Given the description of an element on the screen output the (x, y) to click on. 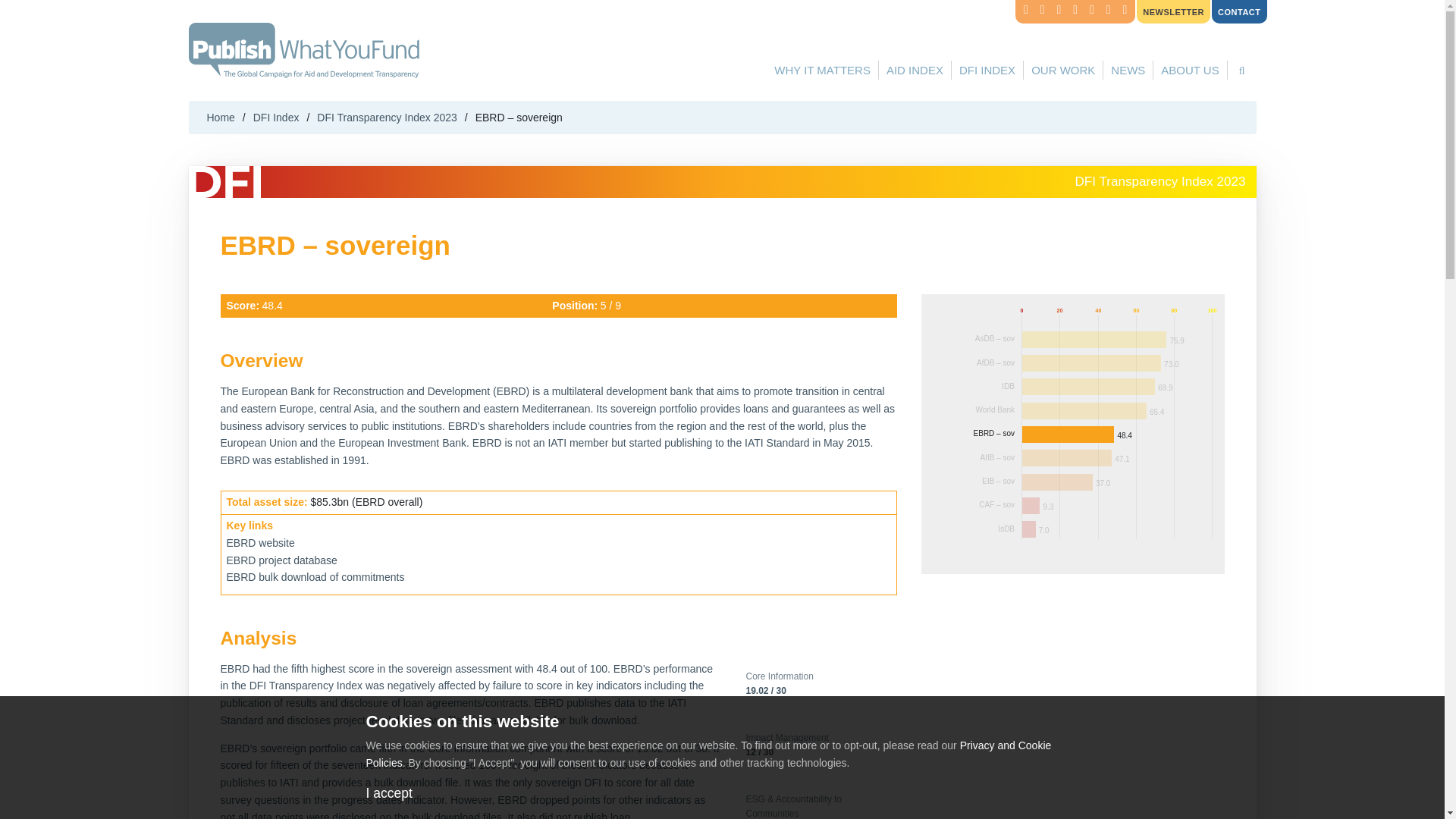
NEWSLETTER (1173, 11)
OUR WORK (1062, 69)
DFI INDEX (987, 69)
AID INDEX (914, 69)
WHY IT MATTERS (1123, 410)
CONTACT (822, 69)
